Given the description of an element on the screen output the (x, y) to click on. 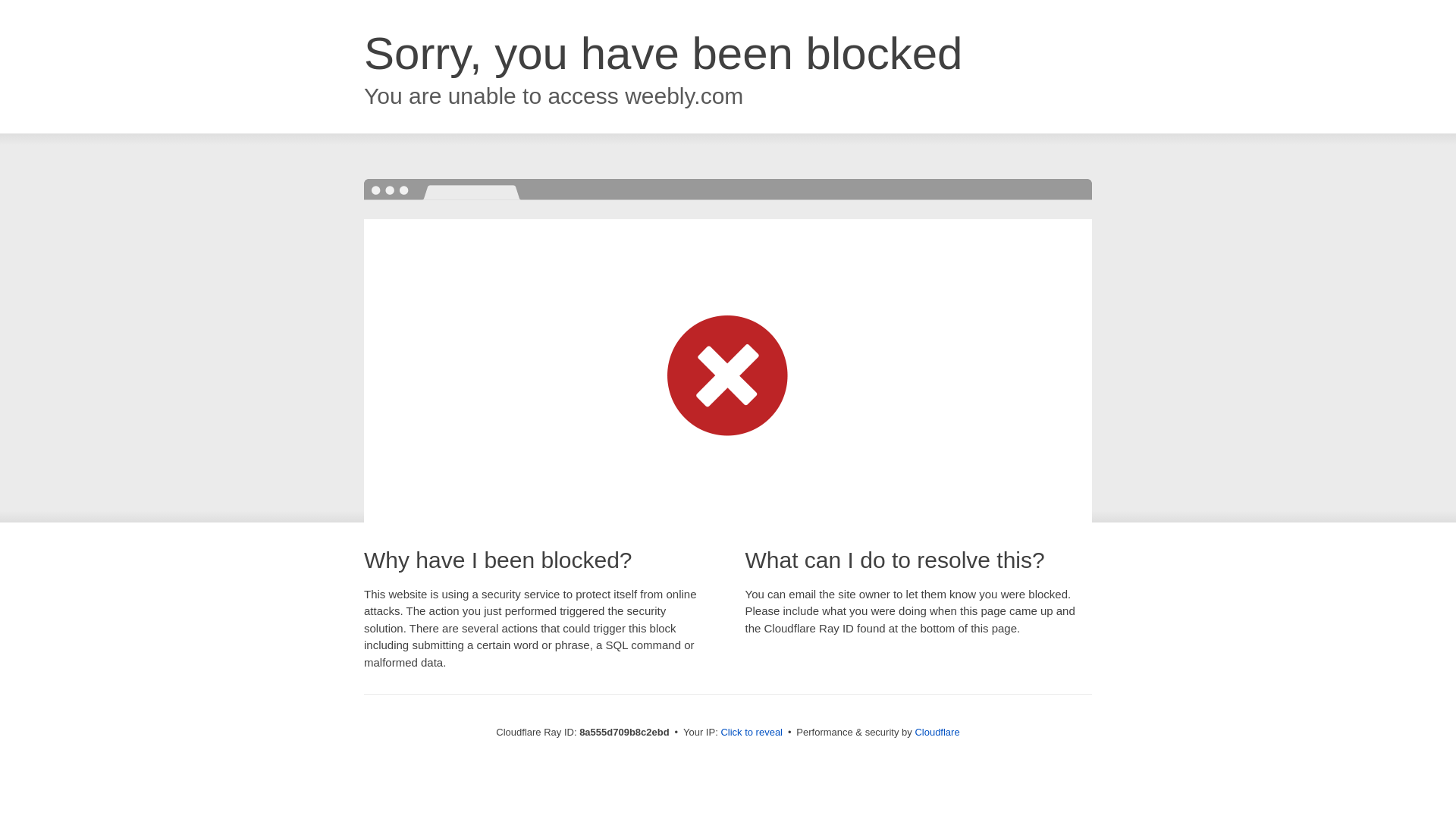
Click to reveal (751, 732)
Cloudflare (936, 731)
